Given the description of an element on the screen output the (x, y) to click on. 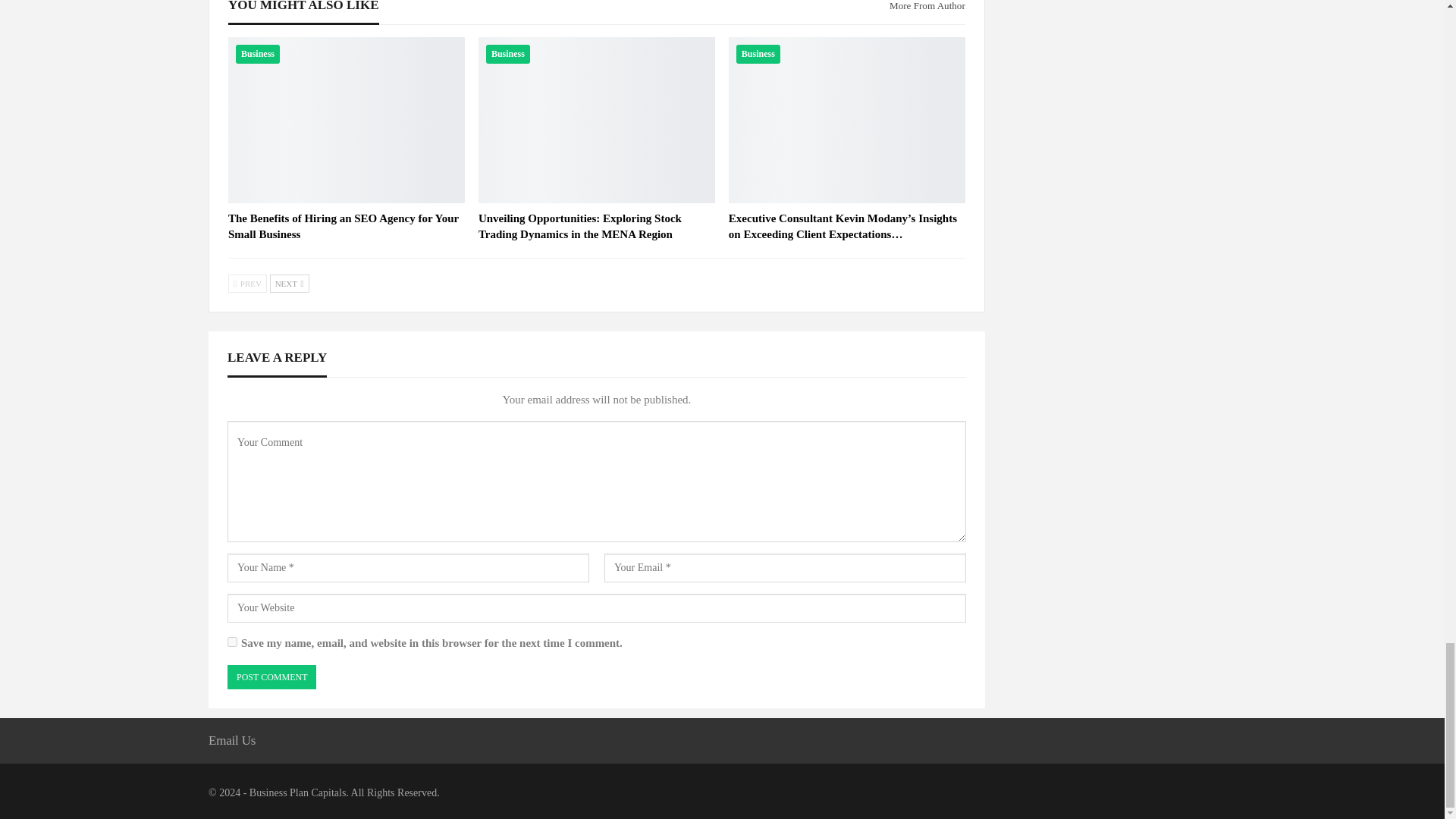
The Benefits of Hiring an SEO Agency for Your Small Business (343, 226)
Post Comment (271, 677)
Previous (247, 283)
yes (232, 642)
The Benefits of Hiring an SEO Agency for Your Small Business (346, 119)
